Given the description of an element on the screen output the (x, y) to click on. 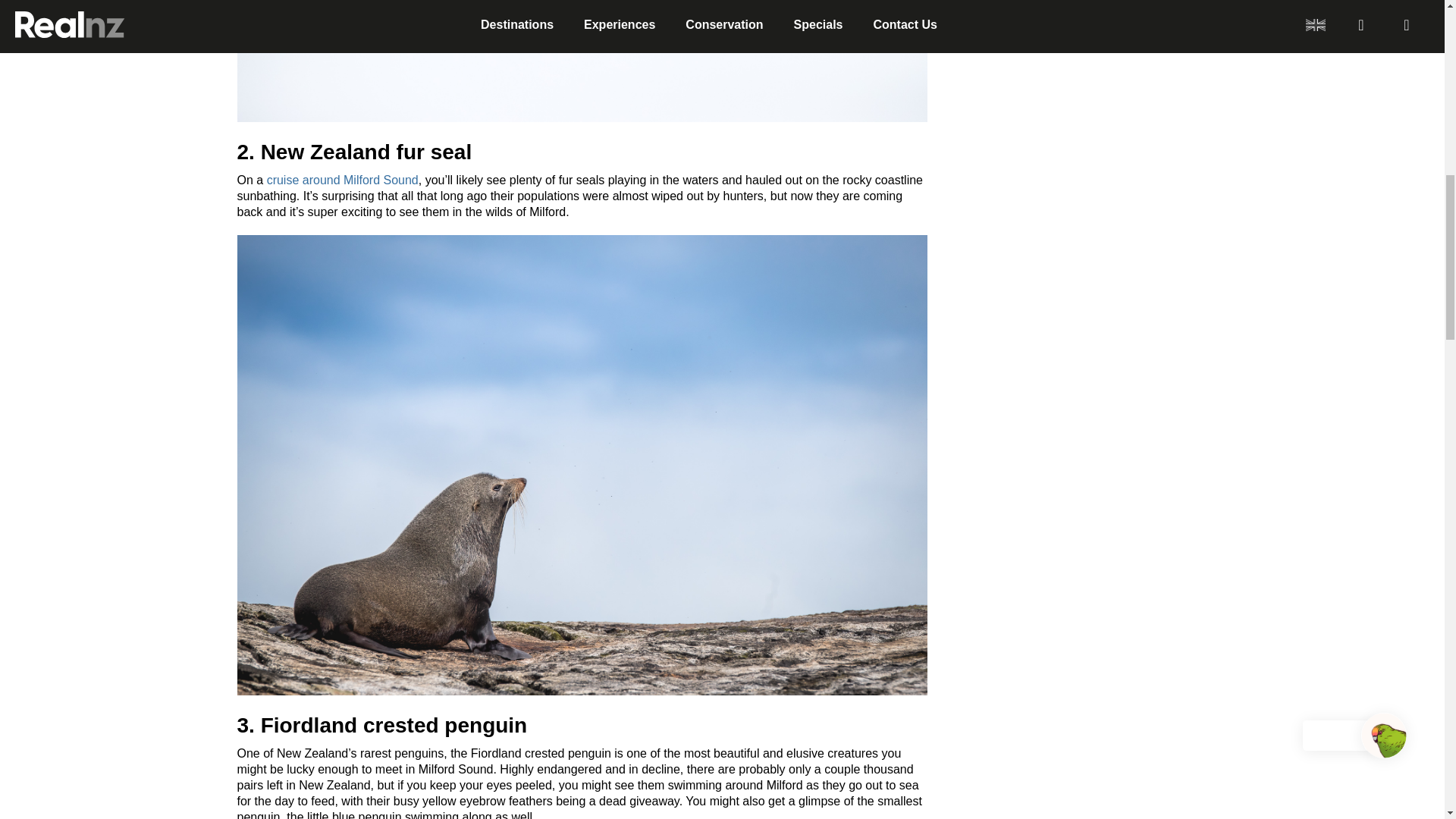
Milford Sound Nature Cruises (342, 179)
